Given the description of an element on the screen output the (x, y) to click on. 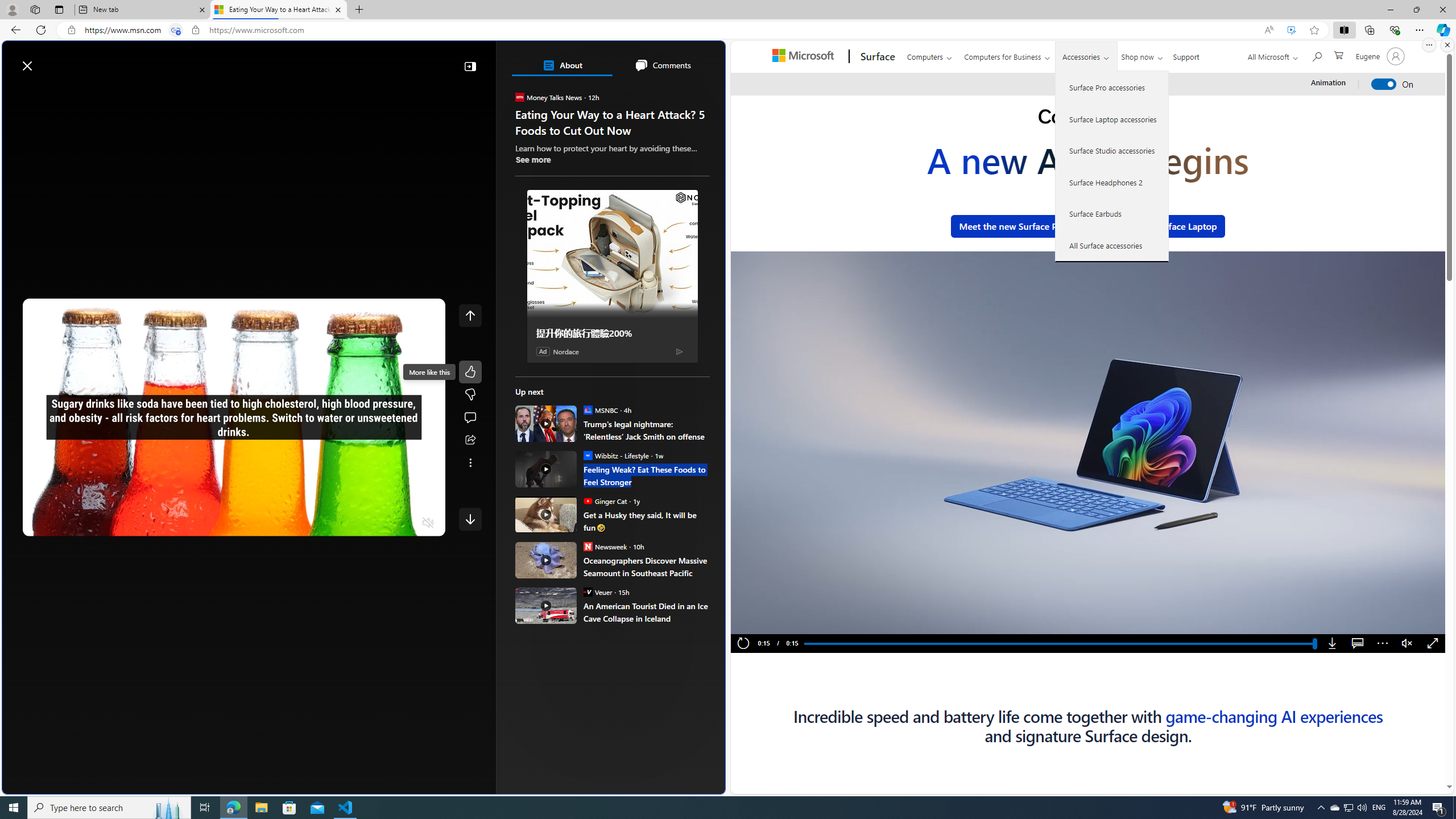
Seek Back (62, 523)
MSNBC MSNBC (600, 409)
Web search (161, 60)
Open settings (699, 60)
Newsweek (587, 546)
Progress Bar (1058, 643)
Surface Laptop accessories (1112, 119)
About (561, 64)
